Given the description of an element on the screen output the (x, y) to click on. 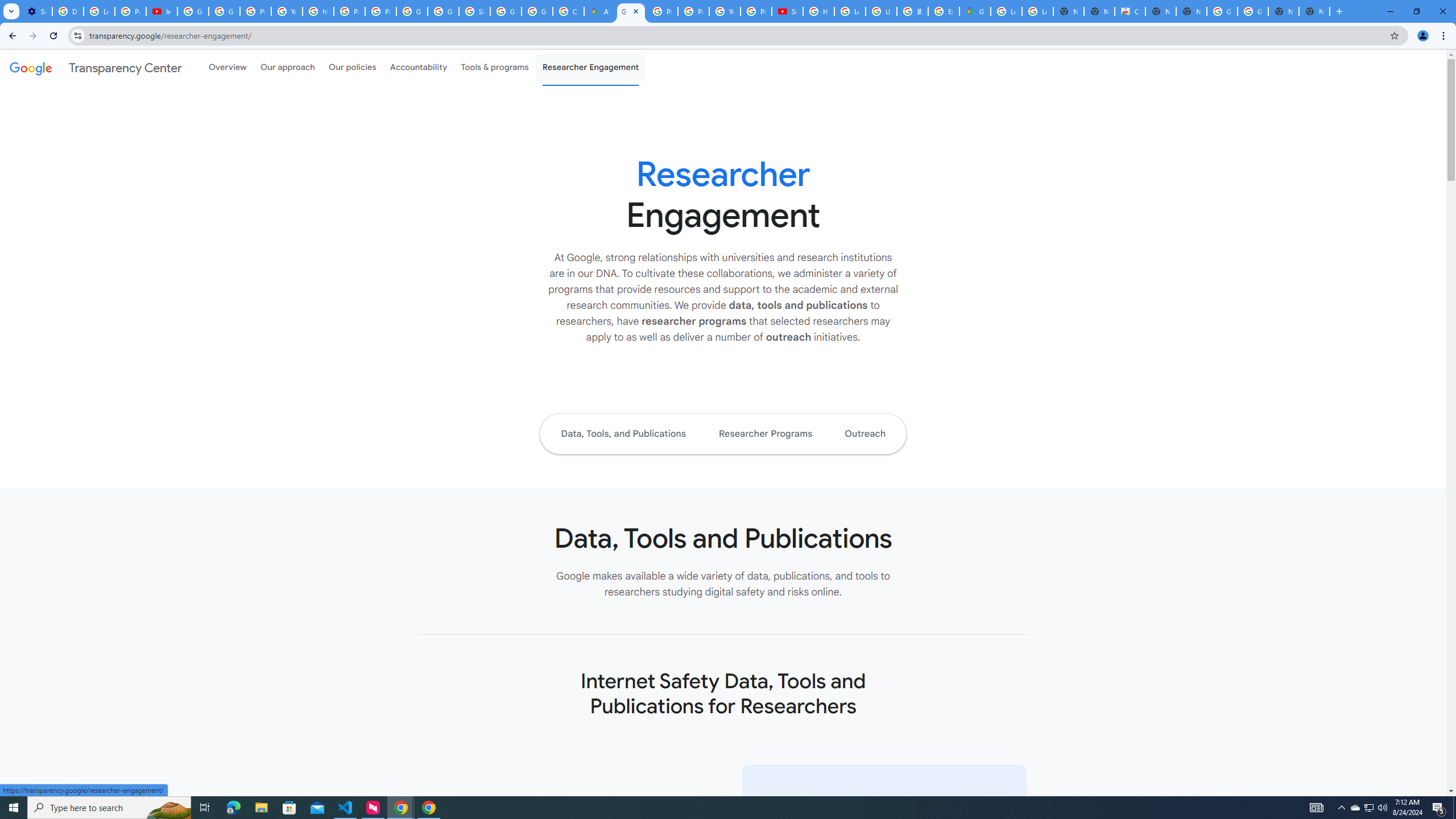
Subscriptions - YouTube (787, 11)
